Given the description of an element on the screen output the (x, y) to click on. 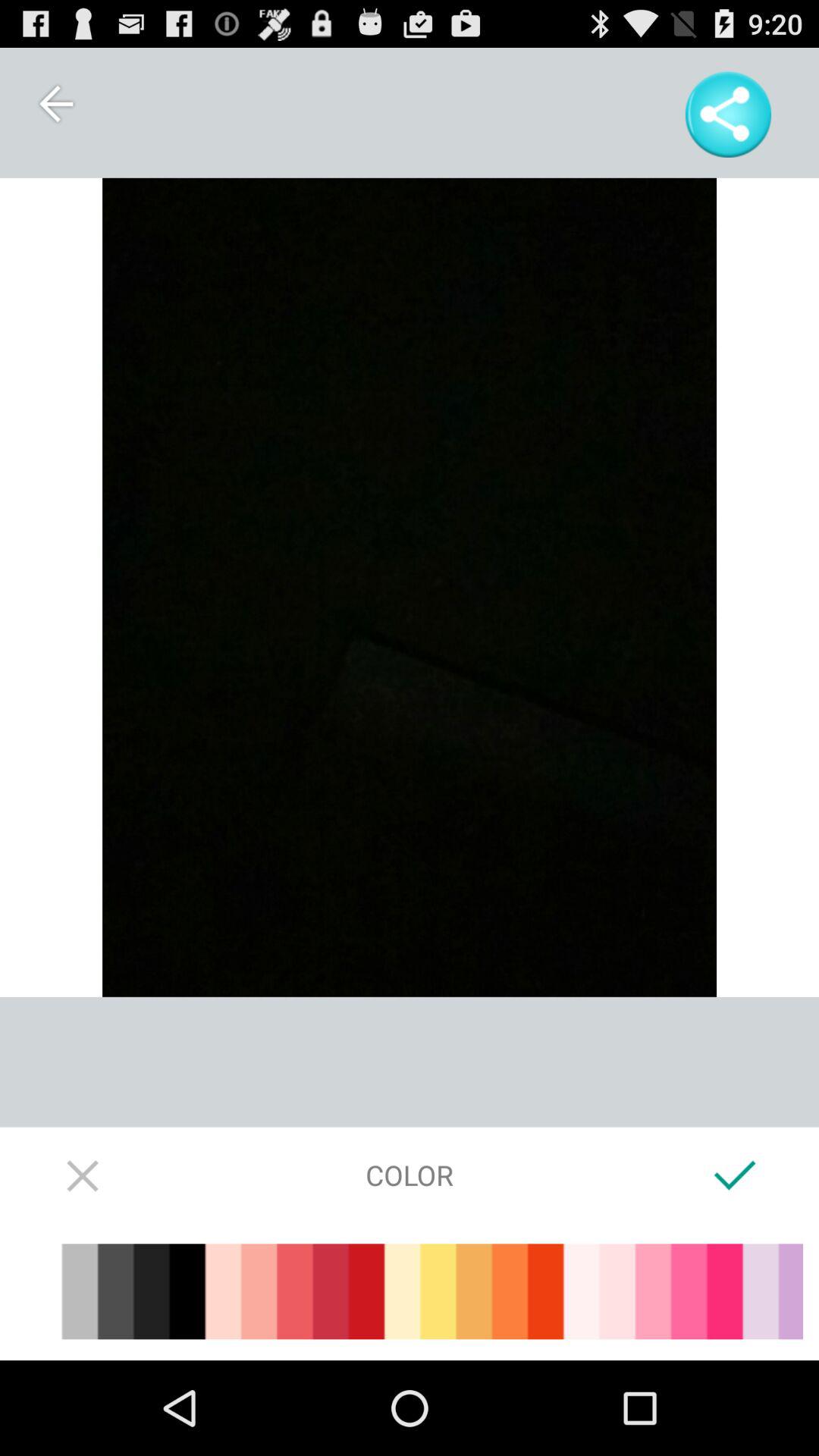
open icon at the top right corner (728, 114)
